Given the description of an element on the screen output the (x, y) to click on. 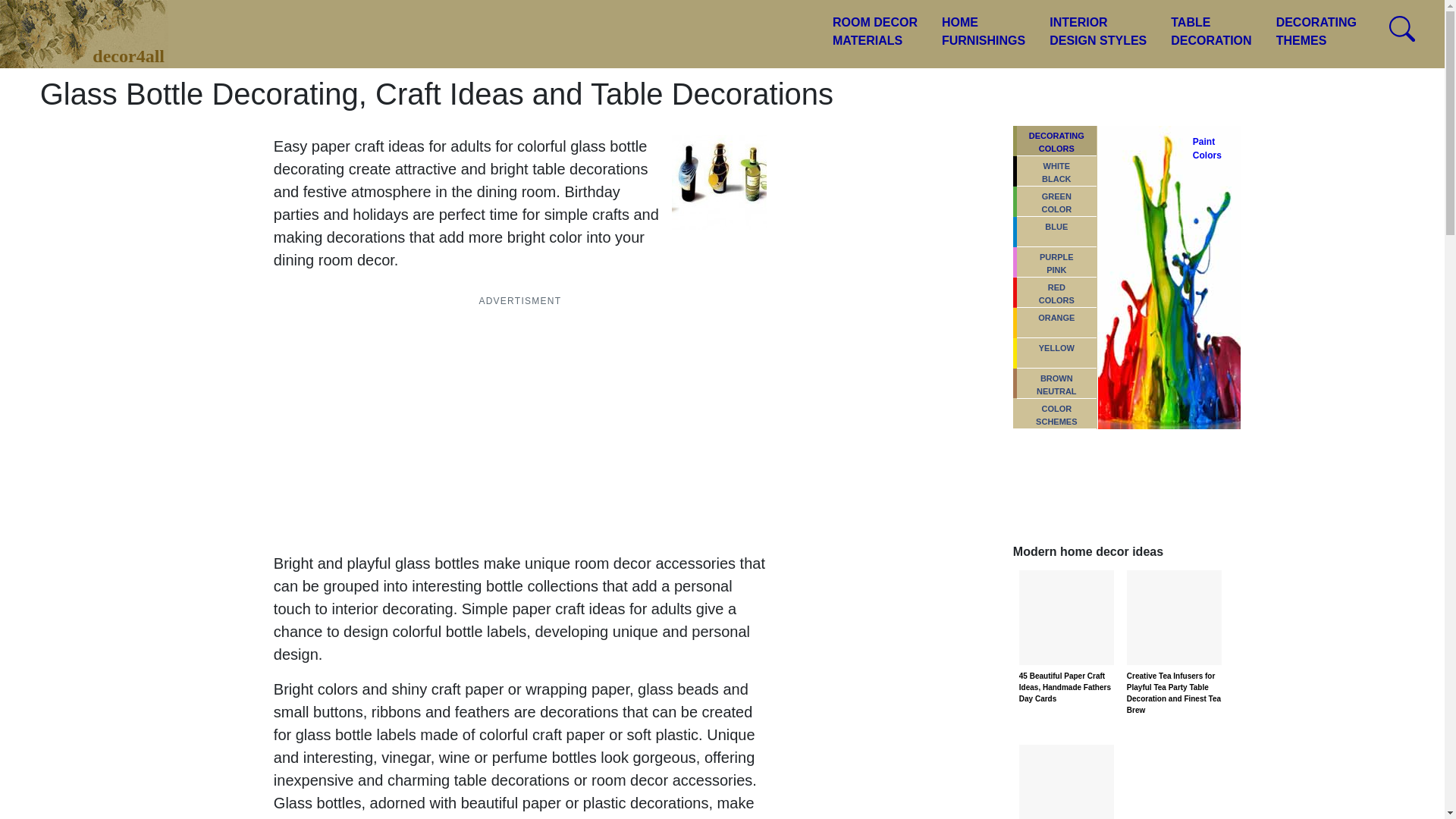
decor4all (1210, 31)
DECORATING COLORS (95, 23)
